Given the description of an element on the screen output the (x, y) to click on. 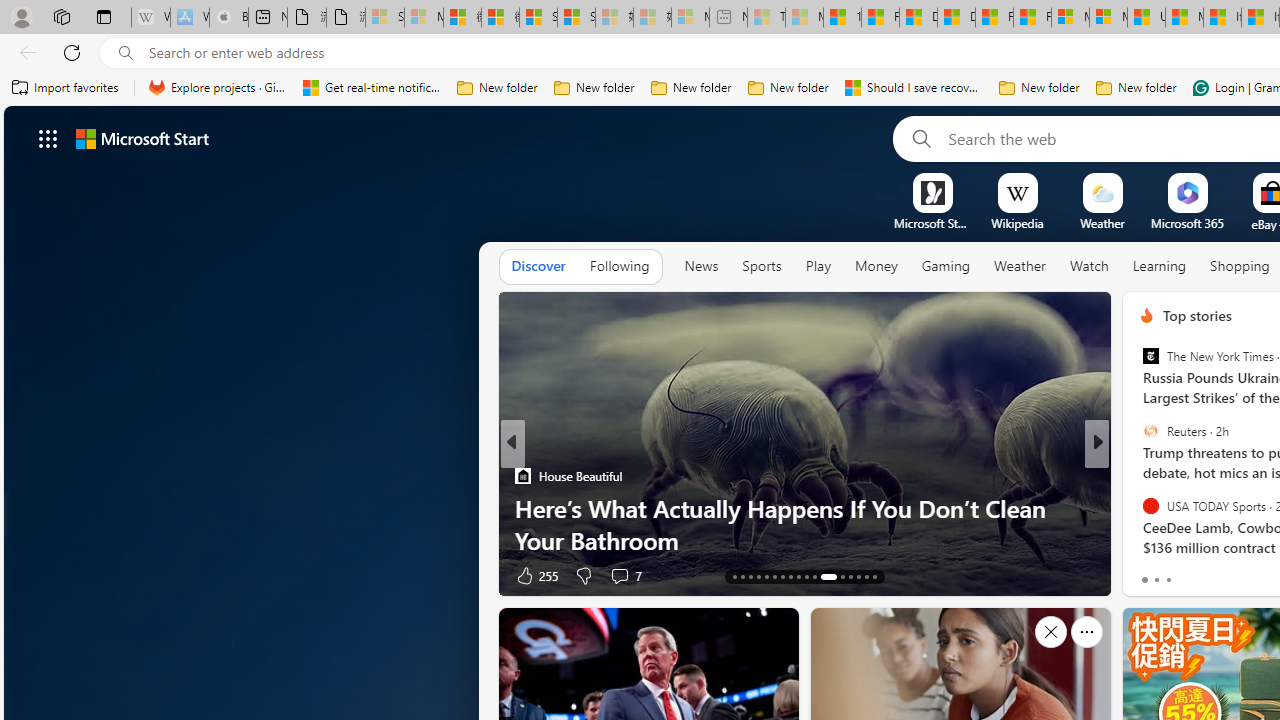
Business Insider (1138, 475)
AutomationID: tab-13 (733, 576)
AutomationID: tab-17 (765, 576)
